Given the description of an element on the screen output the (x, y) to click on. 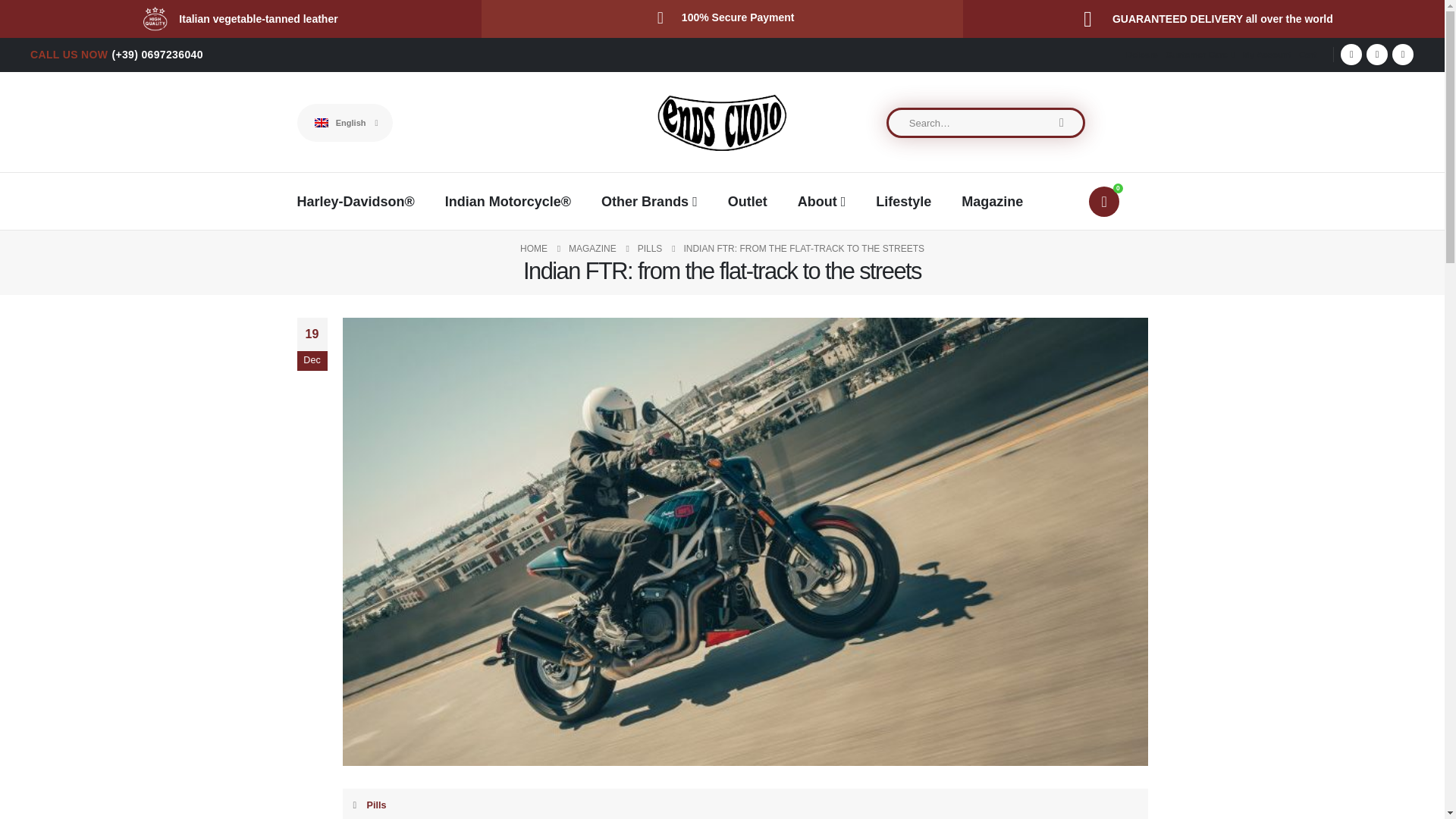
Instagram (1402, 54)
Outlet (747, 200)
English (345, 122)
Cart (1305, 54)
My Account (1267, 54)
About (821, 200)
Lifestyle (903, 200)
Magazine (991, 200)
Phone (157, 54)
Other Brands (649, 200)
